Given the description of an element on the screen output the (x, y) to click on. 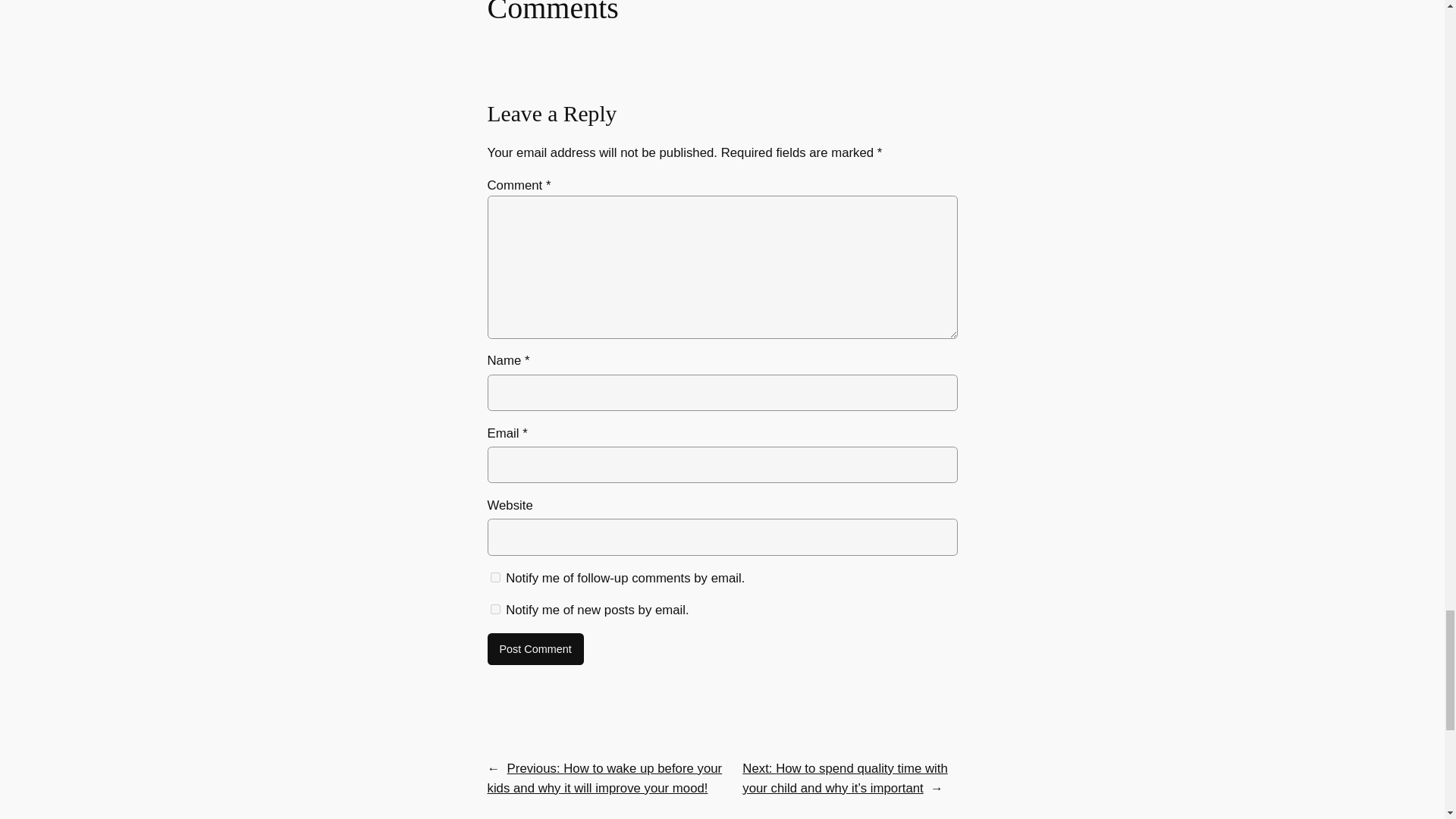
subscribe (494, 609)
Post Comment (534, 649)
Post Comment (534, 649)
subscribe (494, 577)
